Given the description of an element on the screen output the (x, y) to click on. 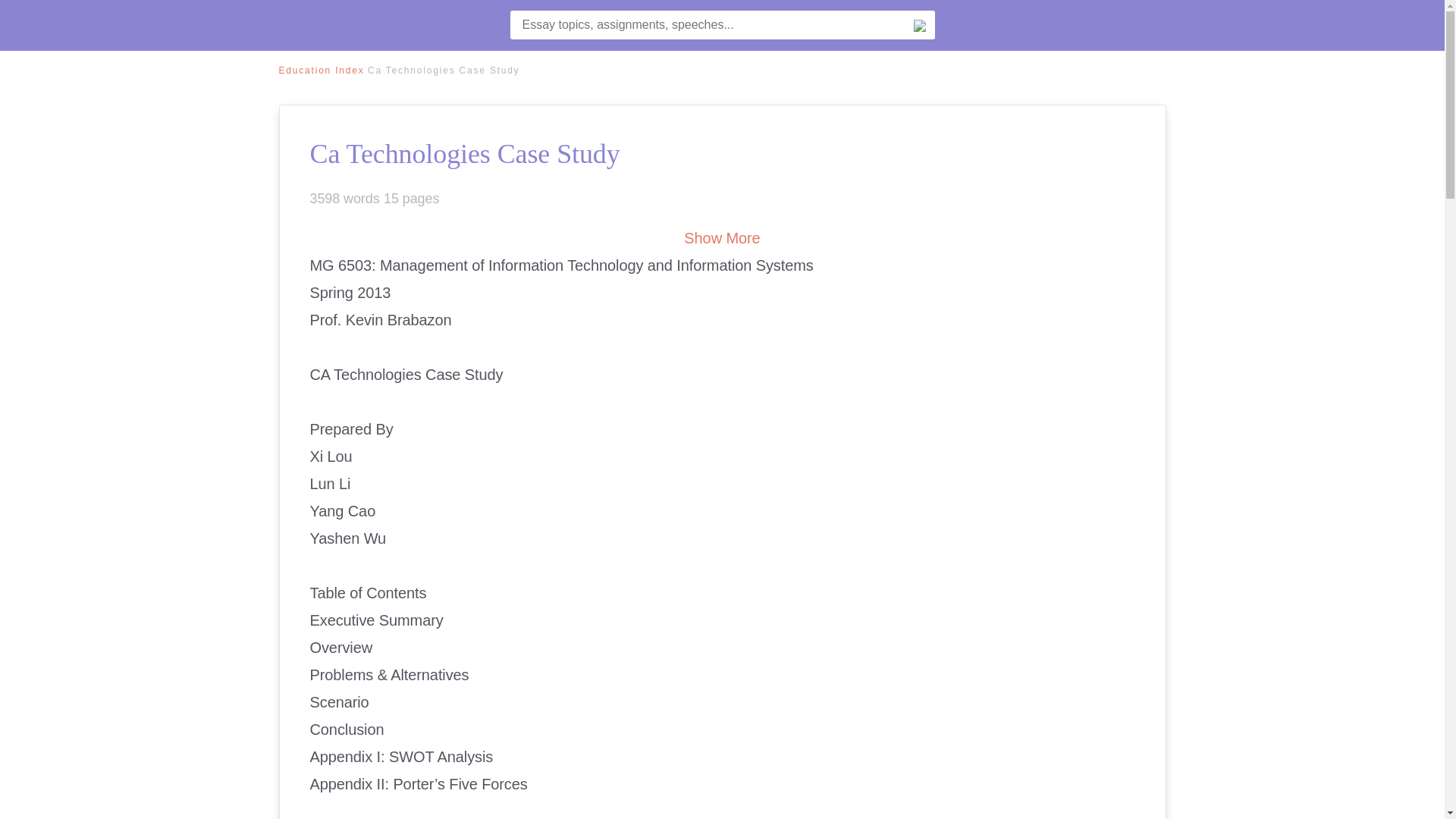
Show More (722, 238)
Education Index (322, 70)
